Given the description of an element on the screen output the (x, y) to click on. 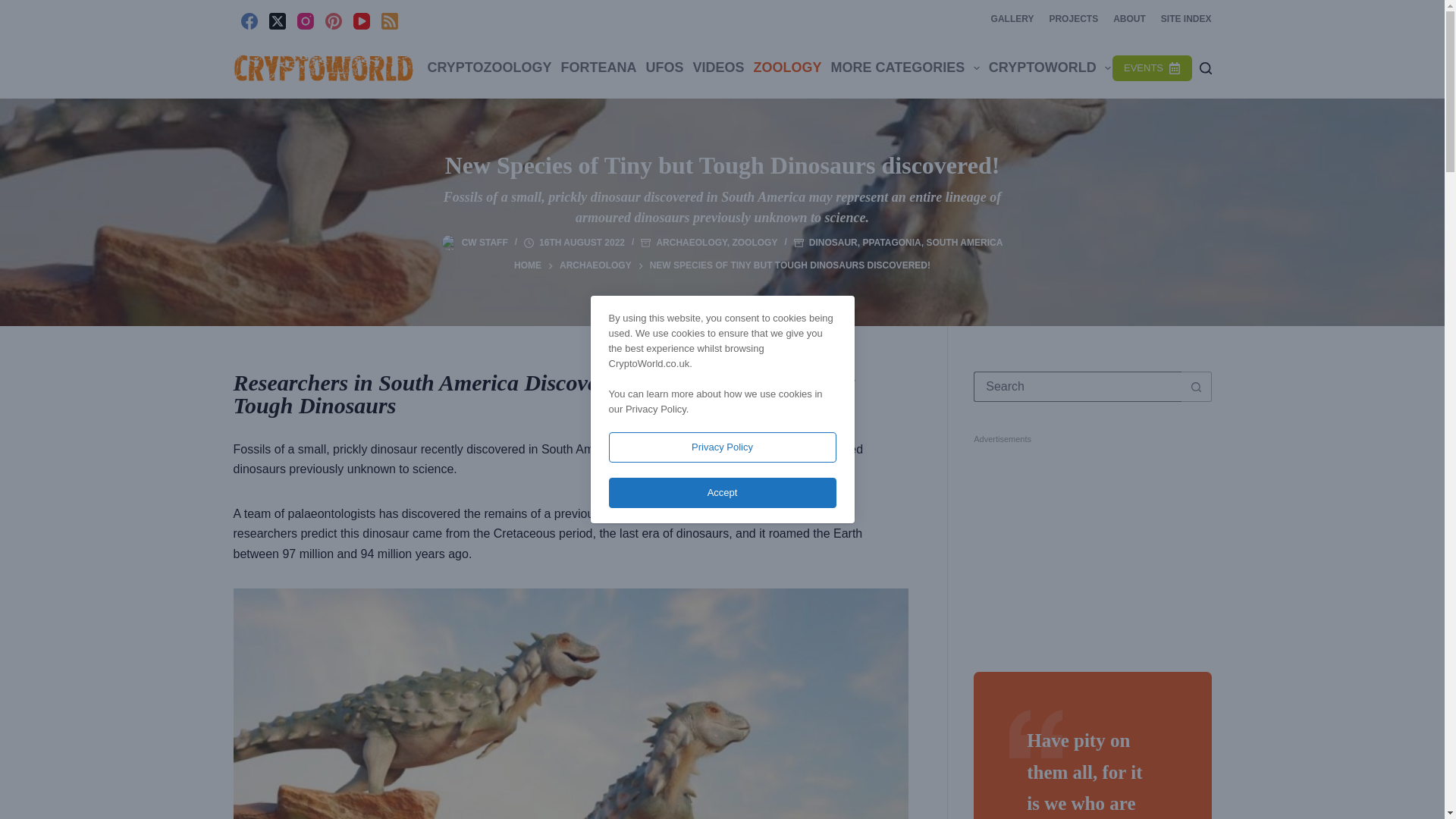
New Species of Tiny but Tough Dinosaurs discovered! (722, 164)
Posts by CW Staff (484, 242)
PROJECTS (1073, 18)
Search for... (1077, 386)
ABOUT (1129, 18)
Skip to content (15, 7)
GALLERY (1013, 18)
Advertisement (1092, 546)
